Given the description of an element on the screen output the (x, y) to click on. 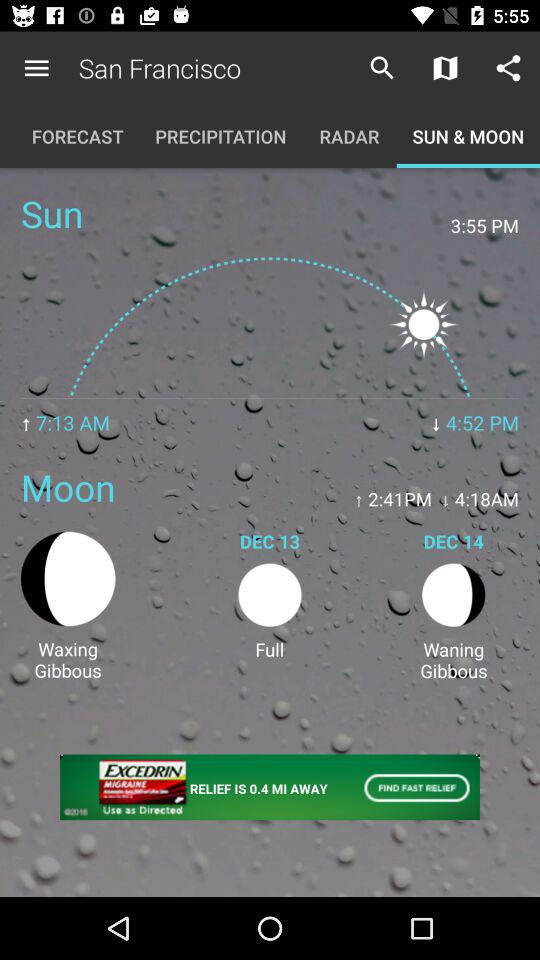
select top right corner symbol (508, 68)
